Given the description of an element on the screen output the (x, y) to click on. 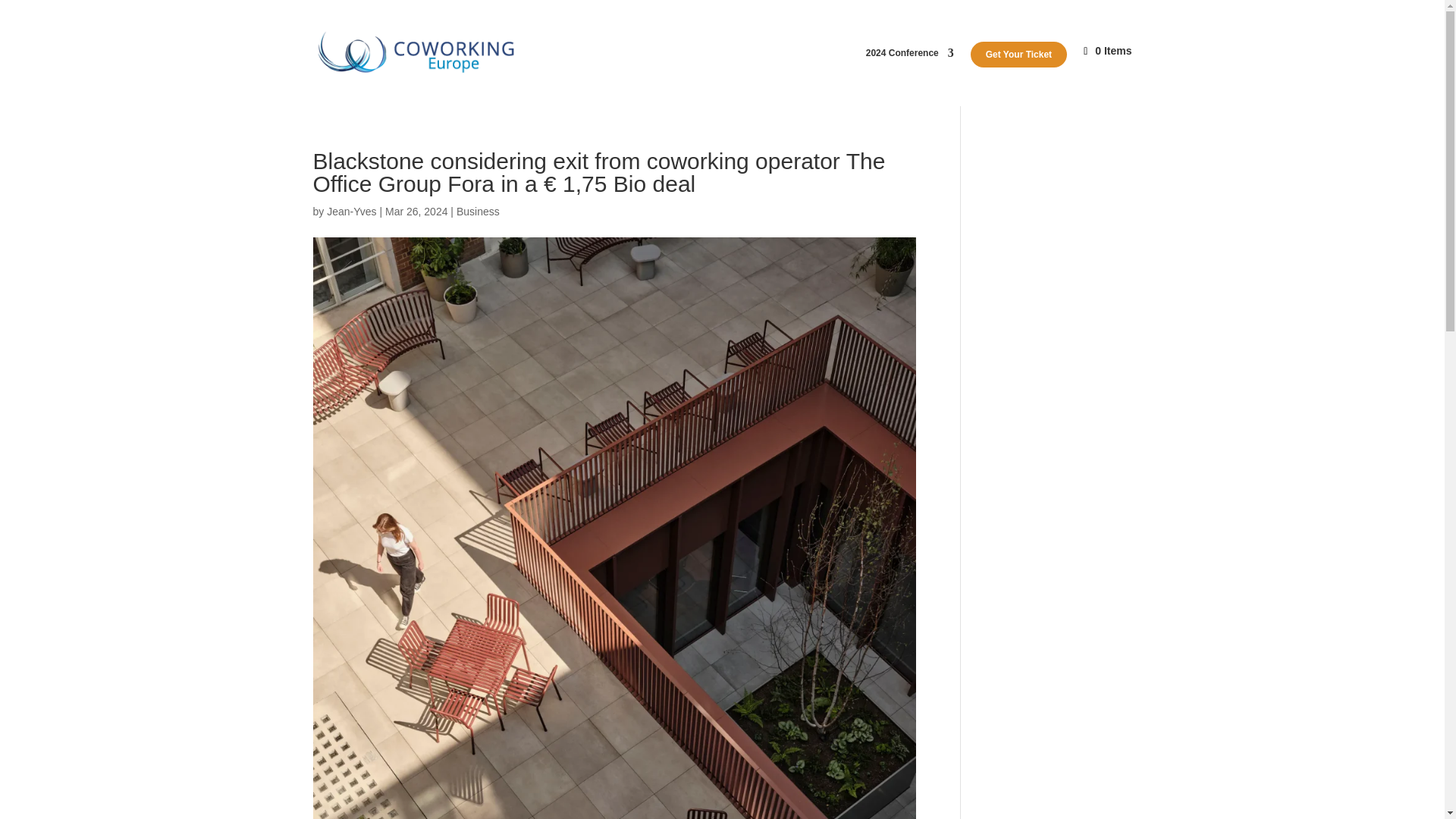
Get Your Ticket (1019, 54)
Business (478, 211)
Jean-Yves (350, 211)
0 Items (1107, 75)
2024 Conference (909, 76)
Posts by Jean-Yves (350, 211)
